Given the description of an element on the screen output the (x, y) to click on. 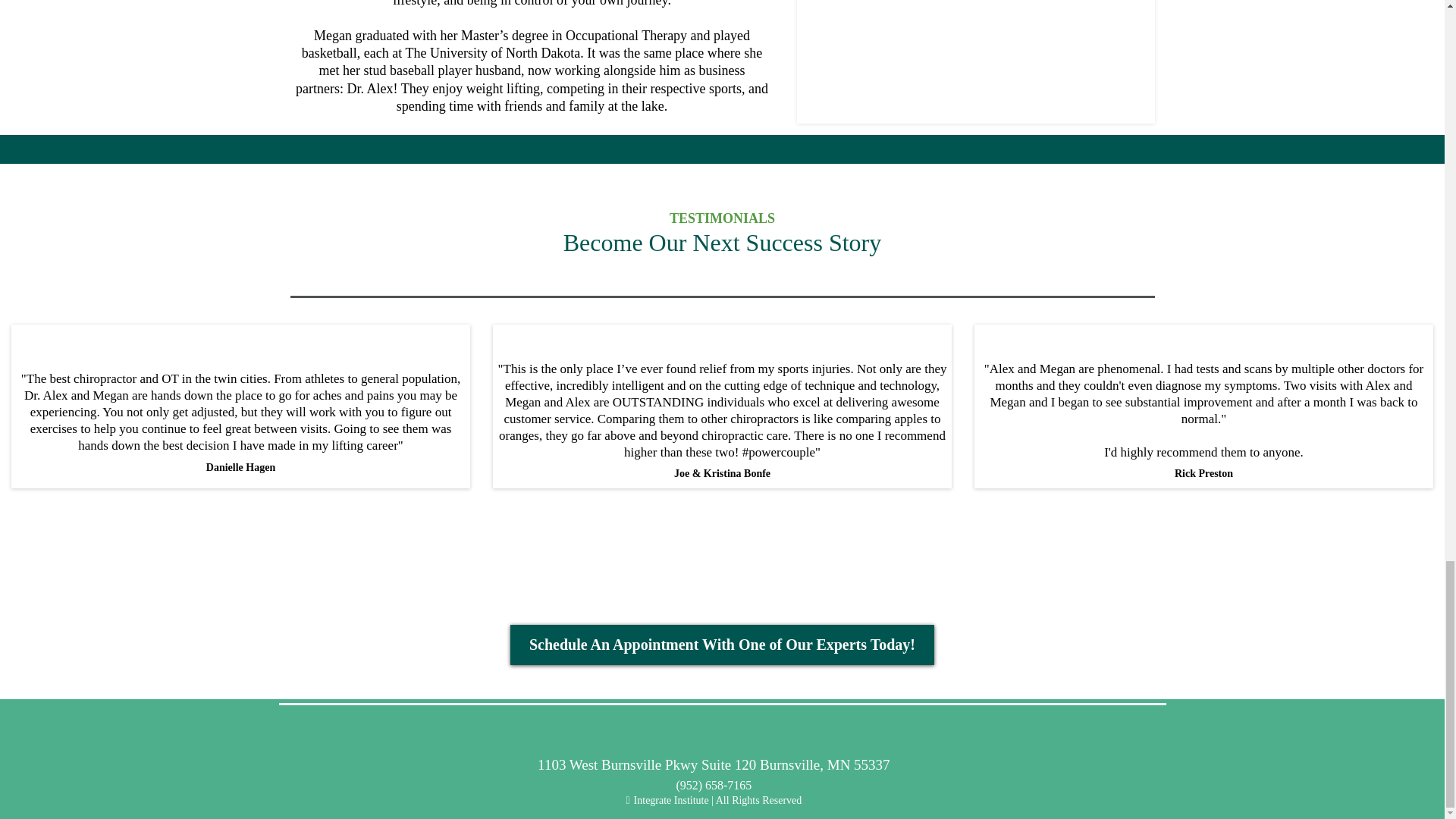
Schedule An Appointment With One of Our Experts Today! (722, 644)
